Given the description of an element on the screen output the (x, y) to click on. 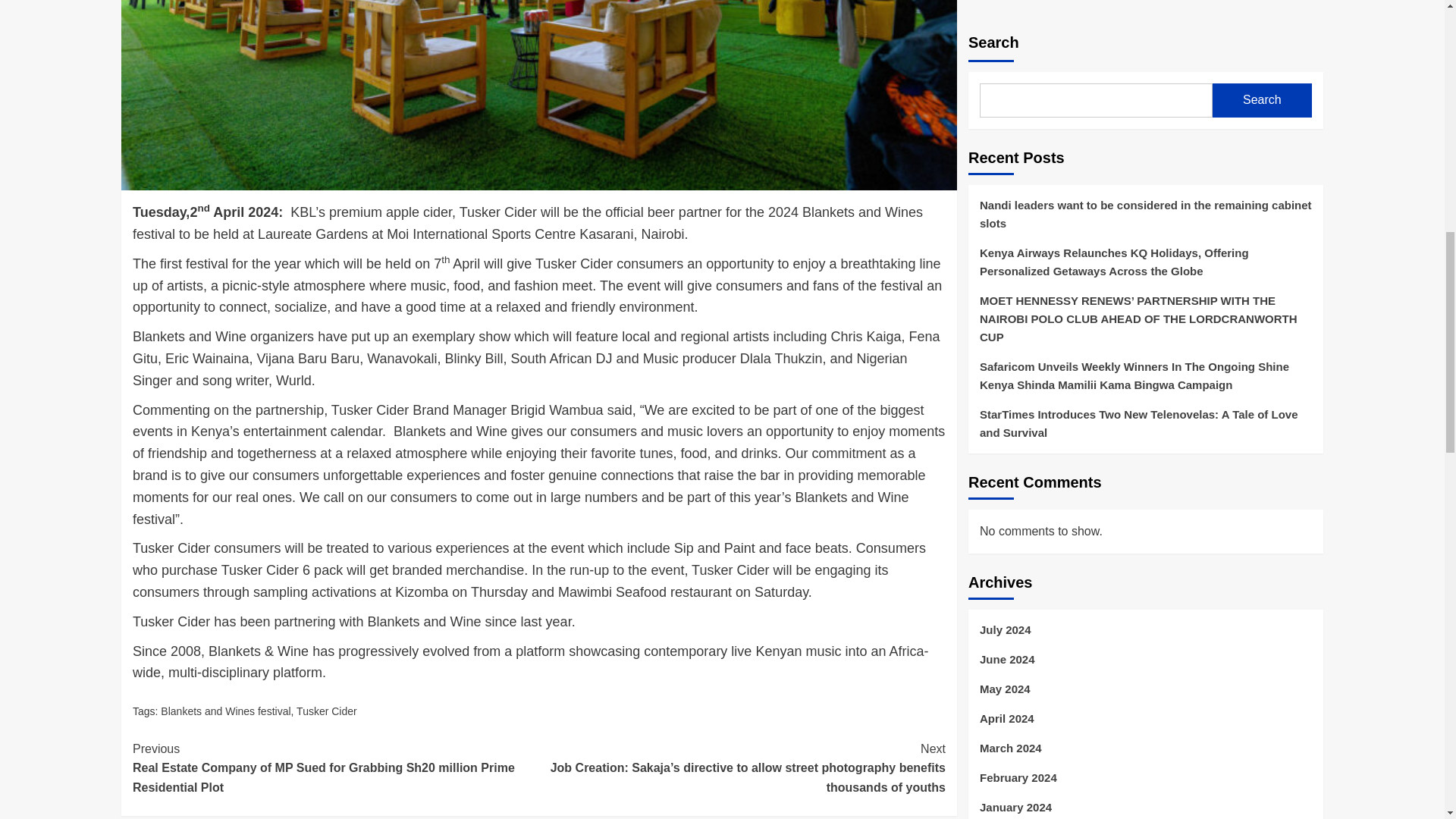
Blankets and Wines festival (224, 711)
Tusker Cider (326, 711)
